Given the description of an element on the screen output the (x, y) to click on. 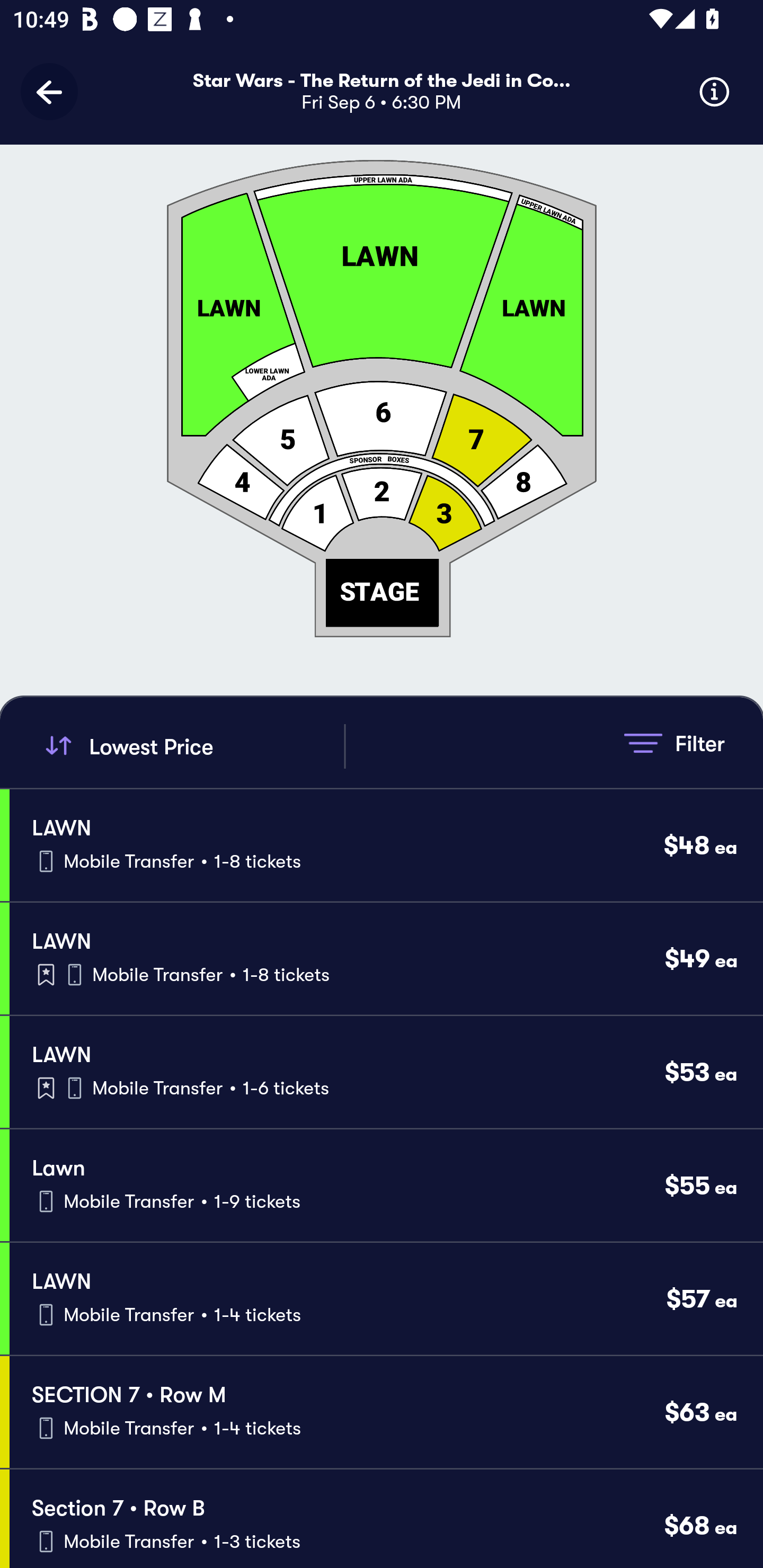
Lowest Price (191, 746)
Filter (674, 743)
LAWN Mobile Transfer • 1-8 tickets $48 ea (386, 844)
LAWN Mobile Transfer • 1-8 tickets $49 ea (386, 958)
LAWN Mobile Transfer • 1-6 tickets $53 ea (386, 1071)
Lawn Mobile Transfer • 1-9 tickets $55 ea (386, 1184)
LAWN Mobile Transfer • 1-4 tickets $57 ea (386, 1298)
